Given the description of an element on the screen output the (x, y) to click on. 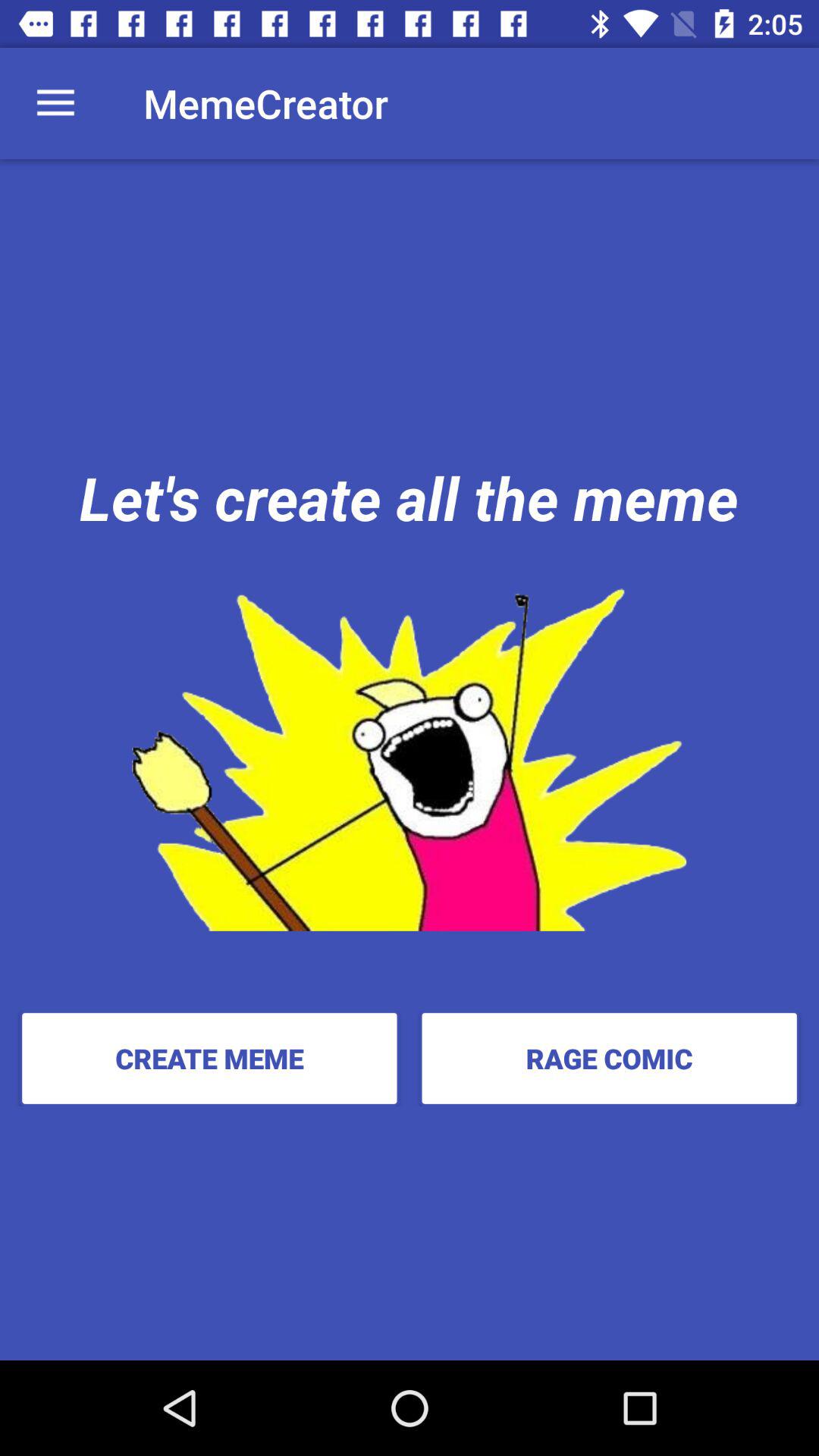
turn off the item next to the create meme item (609, 1058)
